Given the description of an element on the screen output the (x, y) to click on. 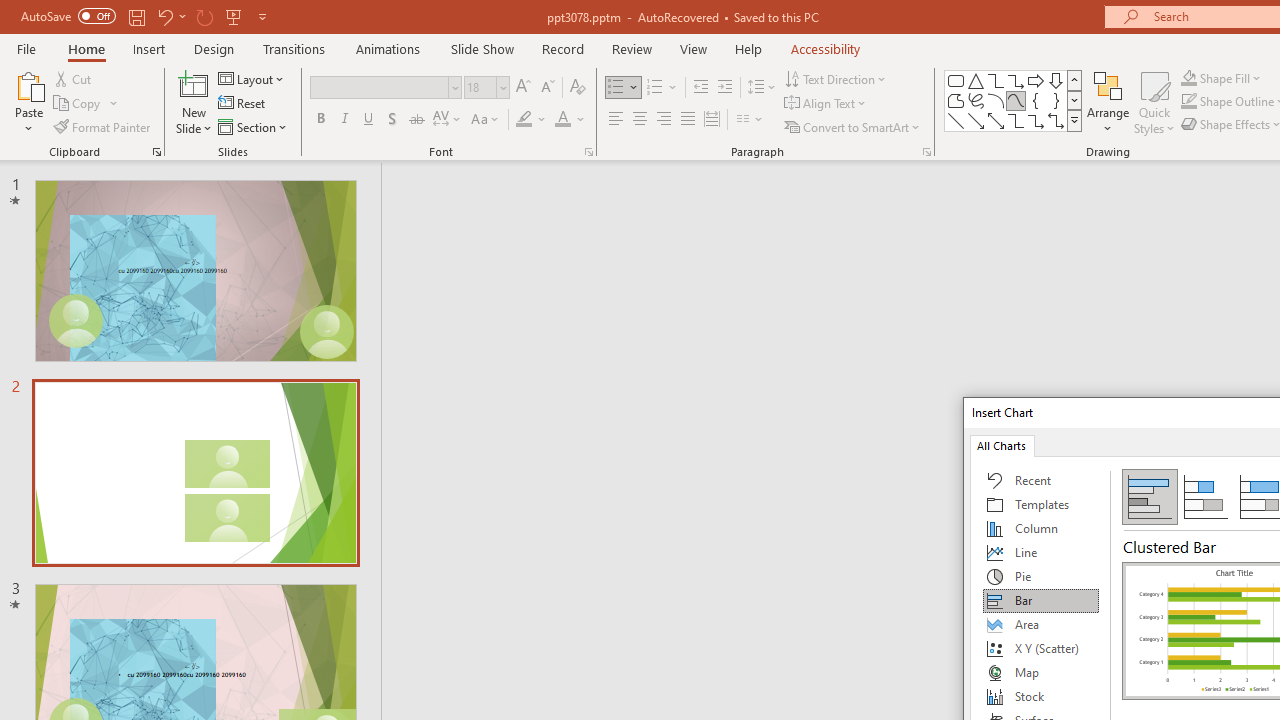
Underline (369, 119)
Bold (320, 119)
Decrease Font Size (547, 87)
Stacked Bar (1205, 496)
Character Spacing (447, 119)
Map (1041, 672)
